Given the description of an element on the screen output the (x, y) to click on. 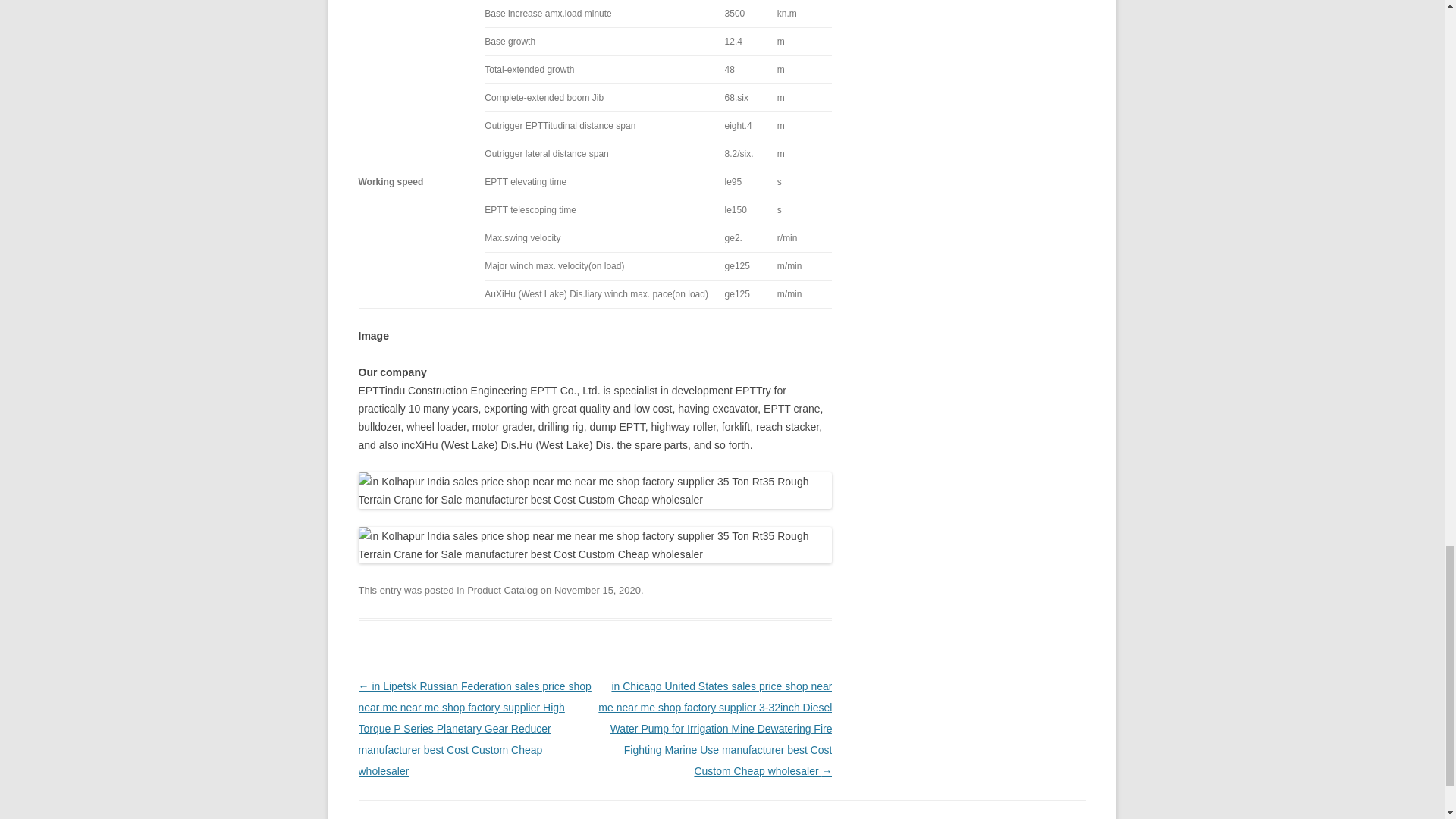
1:23 am (597, 590)
November 15, 2020 (597, 590)
Product Catalog (502, 590)
